Given the description of an element on the screen output the (x, y) to click on. 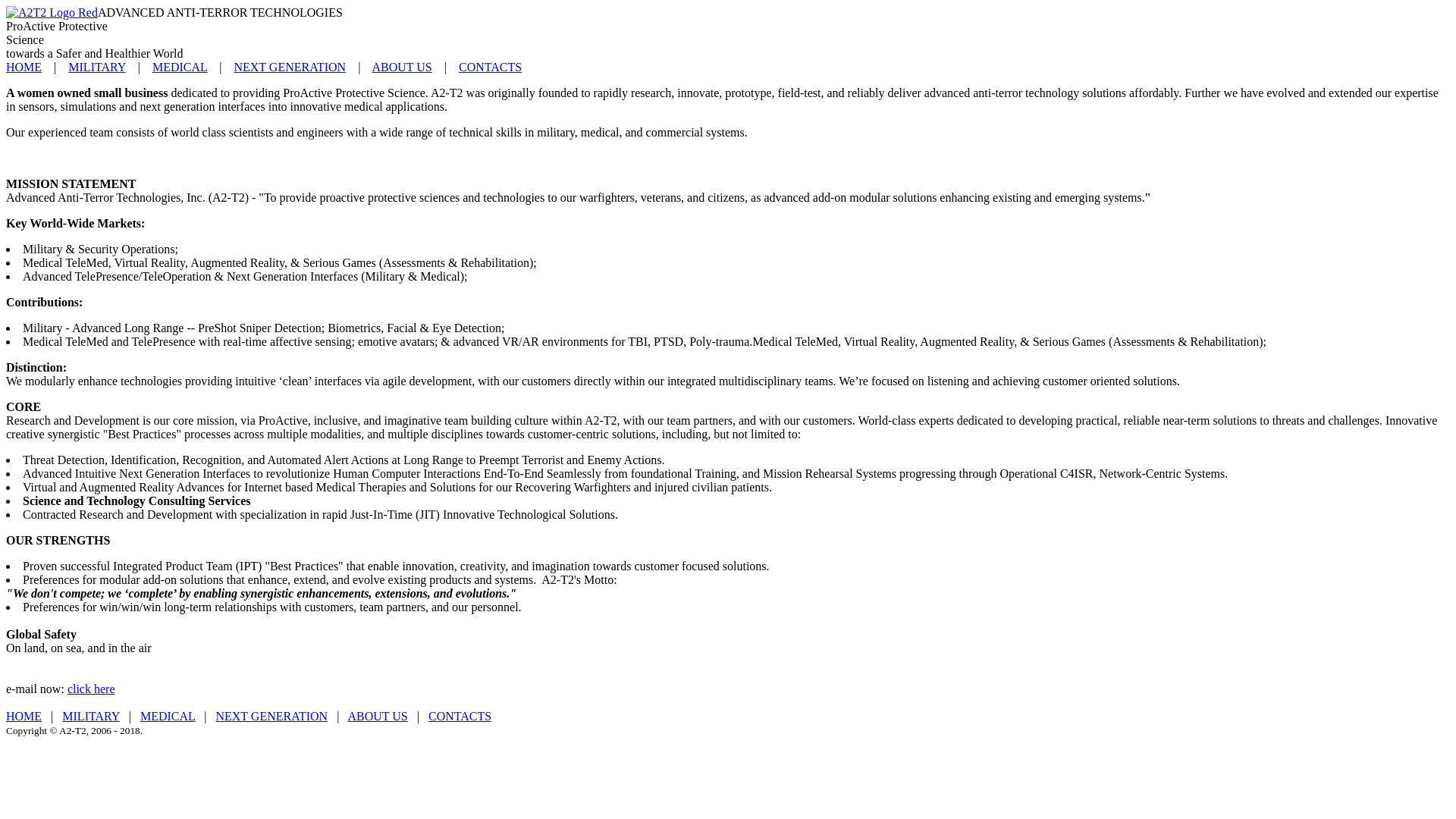
CONTACTS (489, 66)
CONTACTS (460, 716)
ABOUT US (400, 66)
MEDICAL (179, 66)
click here (90, 688)
NEXT GENERATION (289, 66)
MEDICAL (167, 716)
ABOUT US (377, 716)
HOME (23, 716)
MILITARY (96, 66)
